Given the description of an element on the screen output the (x, y) to click on. 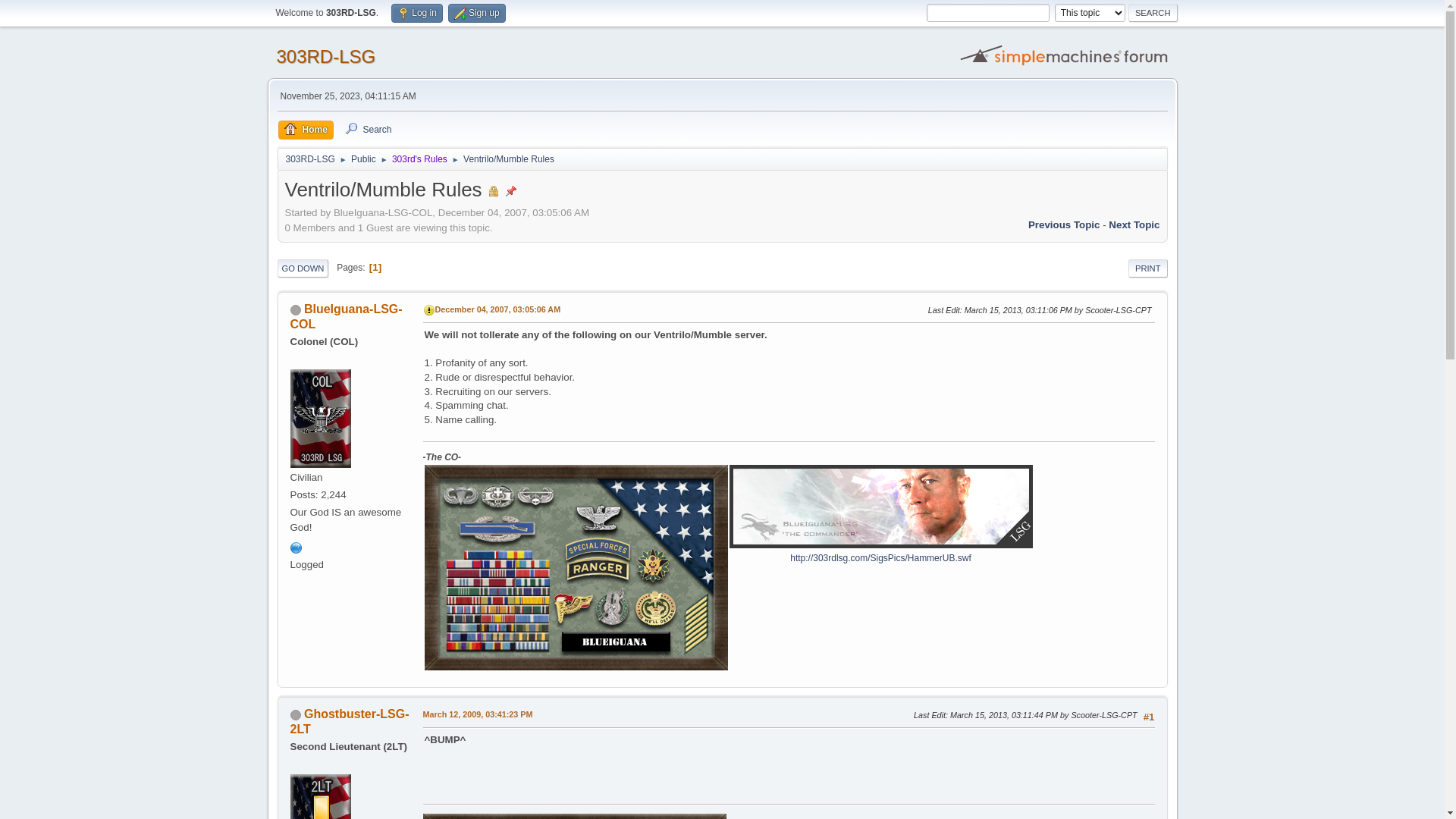
Search Element type: text (367, 129)
303RD-LSG Element type: text (309, 156)
Next Topic Element type: text (1133, 224)
Simple Machines Forum Element type: hover (1065, 54)
Home Element type: text (304, 129)
Public Element type: text (363, 156)
BlueIguana-LSG-COL Element type: text (345, 316)
Offline Element type: hover (294, 309)
December 04, 2007, 03:05:06 AM Element type: text (498, 309)
303RD-LSG Element type: text (325, 56)
http://303rdlsg.com/SigsPics/HammerUB.swf Element type: text (880, 557)
Sign up Element type: text (476, 12)
303rd LSG Element type: hover (295, 546)
Ventrilo/Mumble Rules Element type: text (508, 156)
Search Element type: text (1152, 12)
March 12, 2009, 03:41:23 PM Element type: text (478, 714)
PRINT Element type: text (1147, 268)
303rd's Rules Element type: text (419, 156)
GO DOWN Element type: text (303, 268)
Offline Element type: hover (294, 714)
Log in Element type: text (416, 12)
Previous Topic Element type: text (1064, 224)
Ghostbuster-LSG-2LT Element type: text (348, 721)
